Given the description of an element on the screen output the (x, y) to click on. 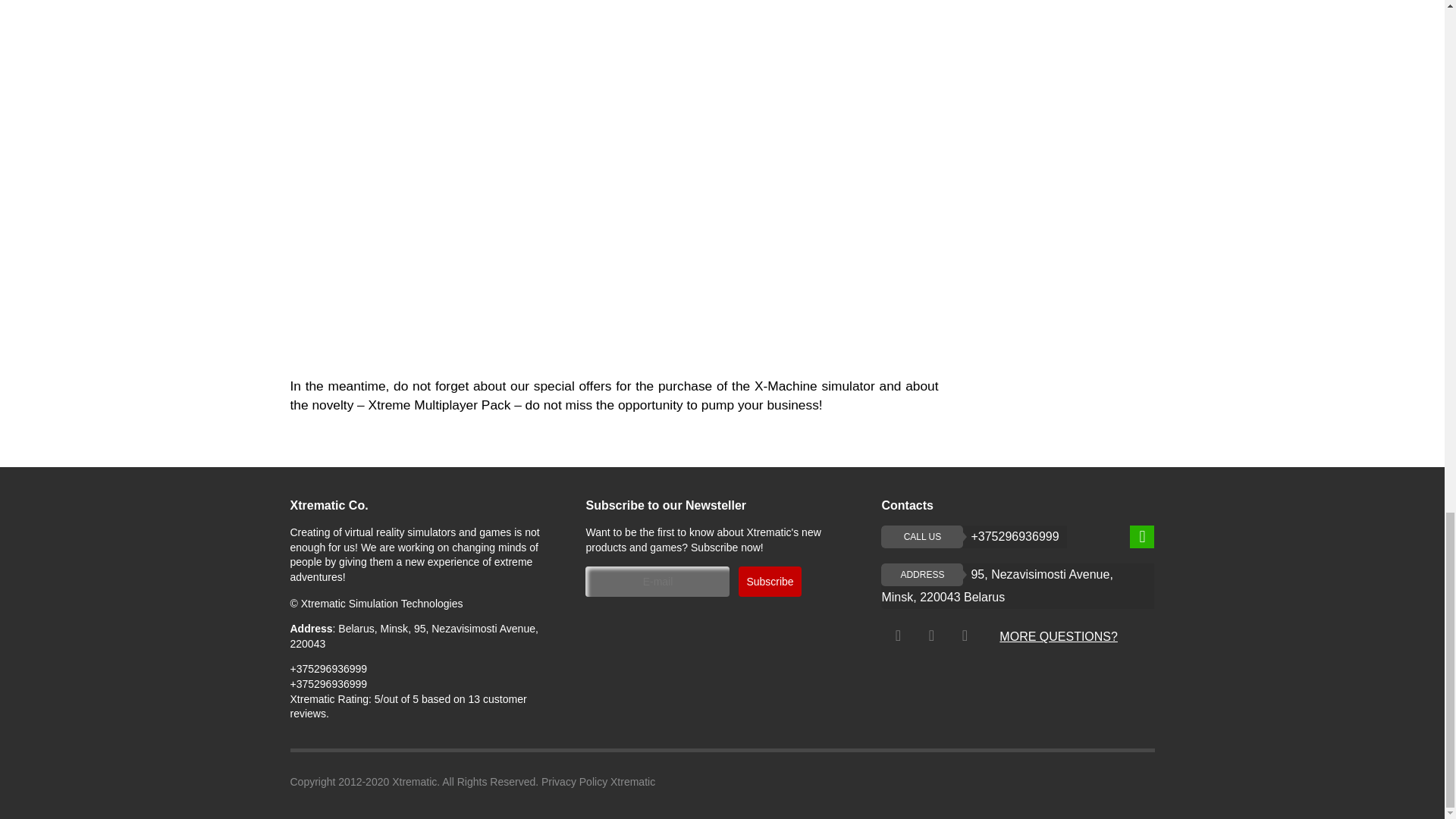
customer reviews (407, 706)
Subscribe (1017, 586)
Subscribe (769, 581)
